Given the description of an element on the screen output the (x, y) to click on. 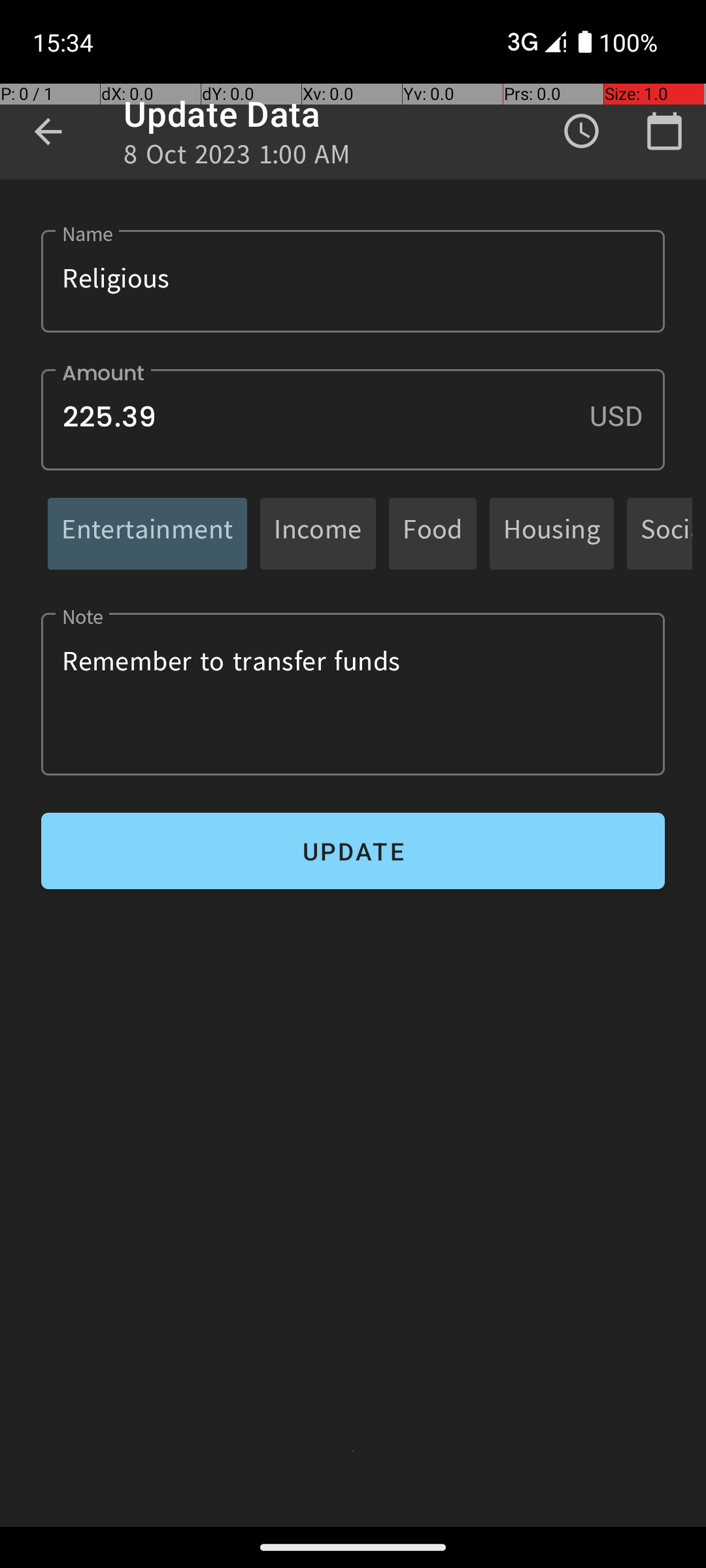
8 Oct 2023 1:00 AM Element type: android.widget.TextView (237, 157)
Religious Element type: android.widget.EditText (352, 280)
225.39 Element type: android.widget.EditText (352, 419)
